Given the description of an element on the screen output the (x, y) to click on. 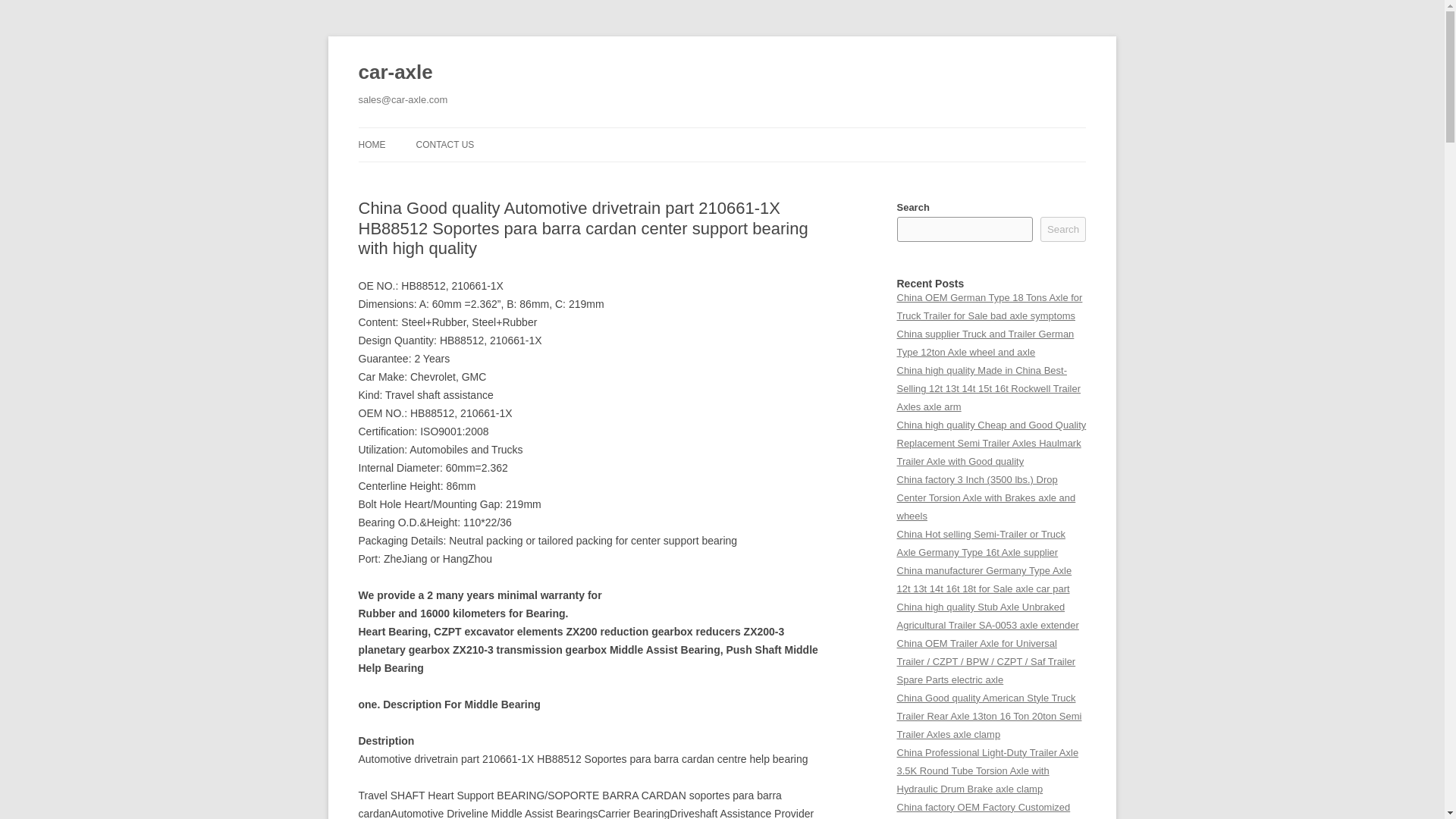
car-axle (395, 72)
car-axle (395, 72)
CONTACT US (444, 144)
Search (1063, 229)
